Given the description of an element on the screen output the (x, y) to click on. 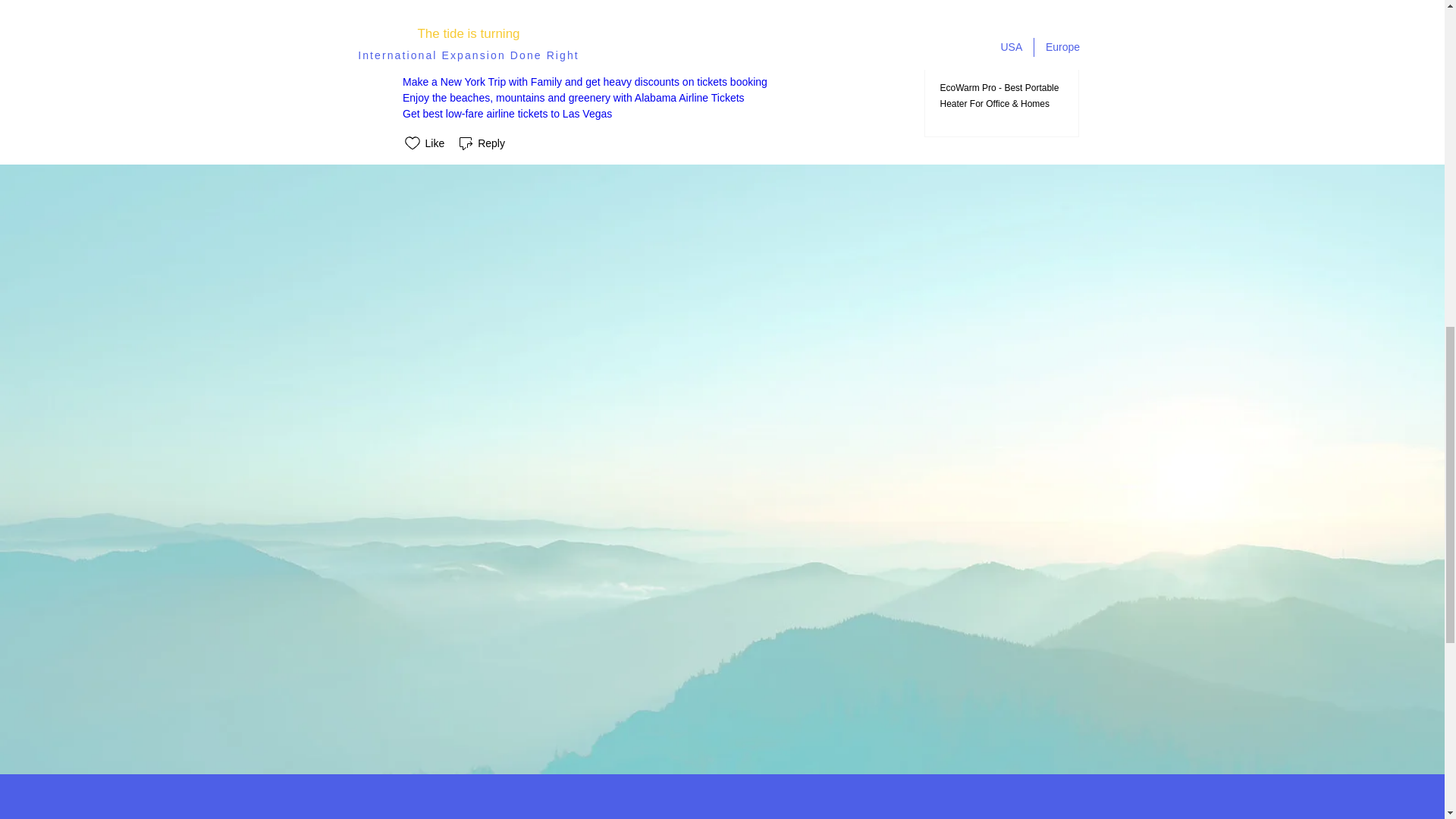
Reply (481, 143)
Get best low-fare airline tickets to Las Vegas (506, 113)
